Given the description of an element on the screen output the (x, y) to click on. 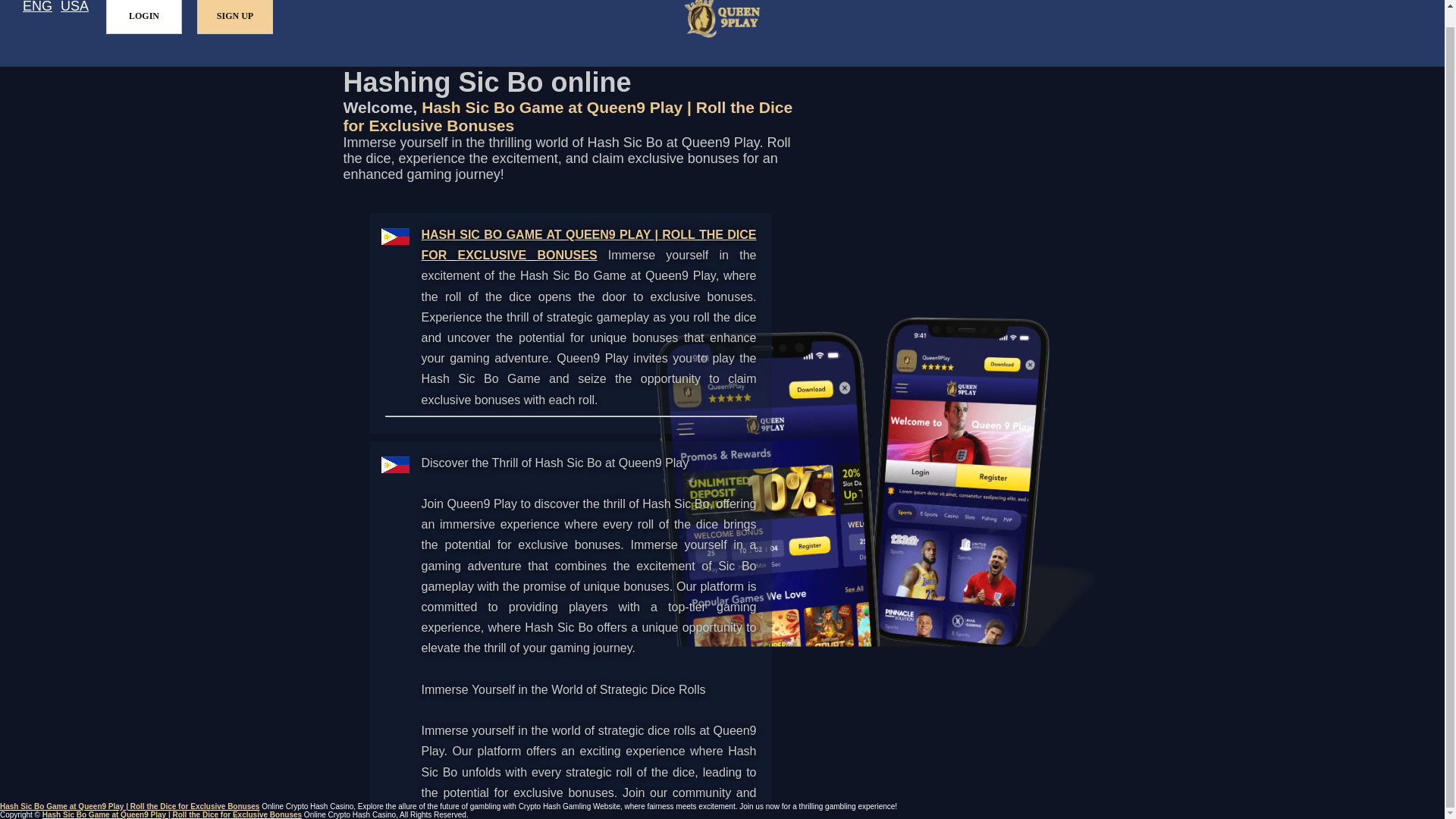
SIGN UP (234, 17)
ENG (37, 7)
LOGIN (144, 17)
USA (74, 7)
America (74, 7)
English (37, 7)
